Given the description of an element on the screen output the (x, y) to click on. 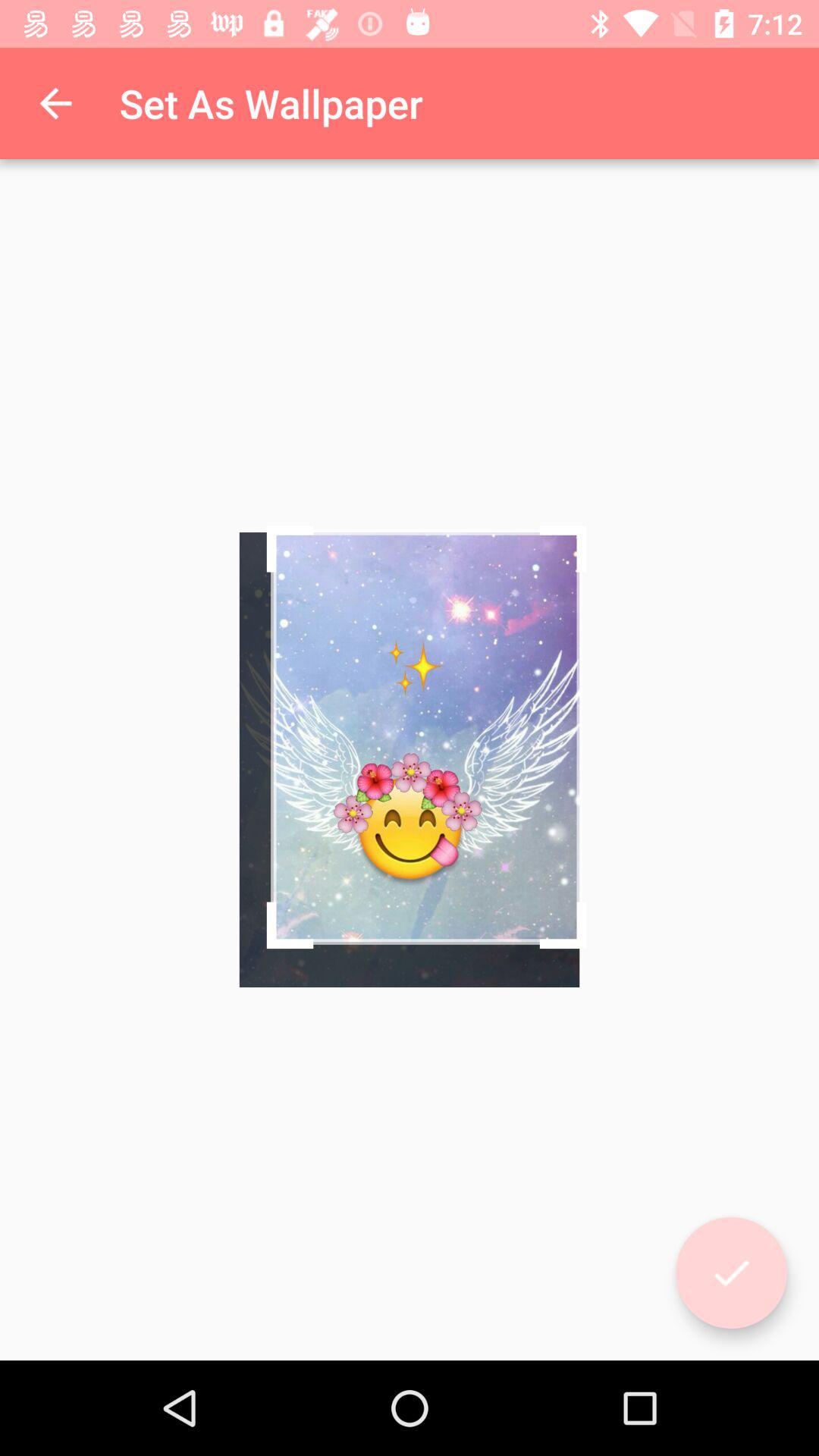
finishing editing option (731, 1272)
